Given the description of an element on the screen output the (x, y) to click on. 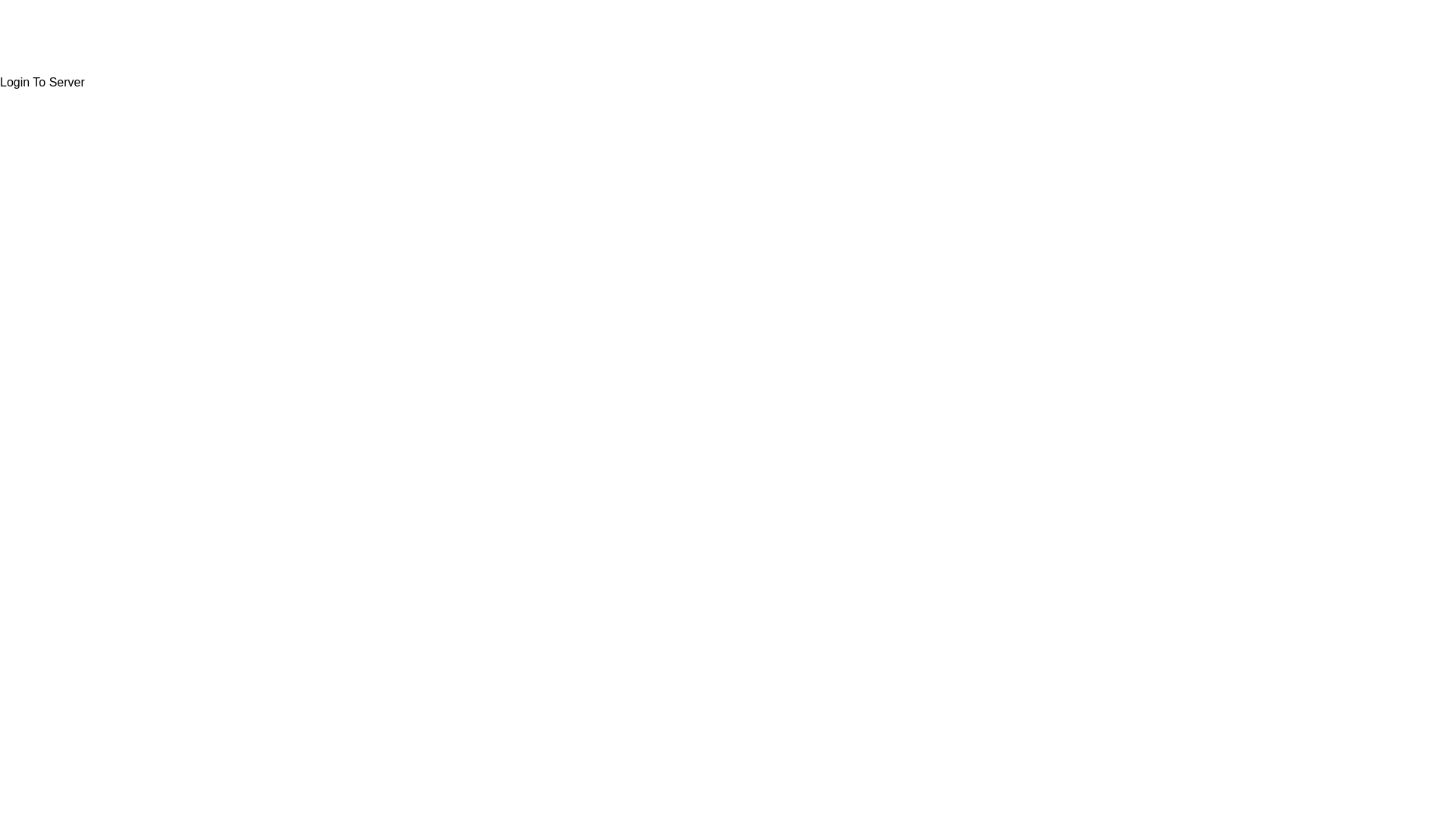
Login To Server Element type: text (42, 82)
